Given the description of an element on the screen output the (x, y) to click on. 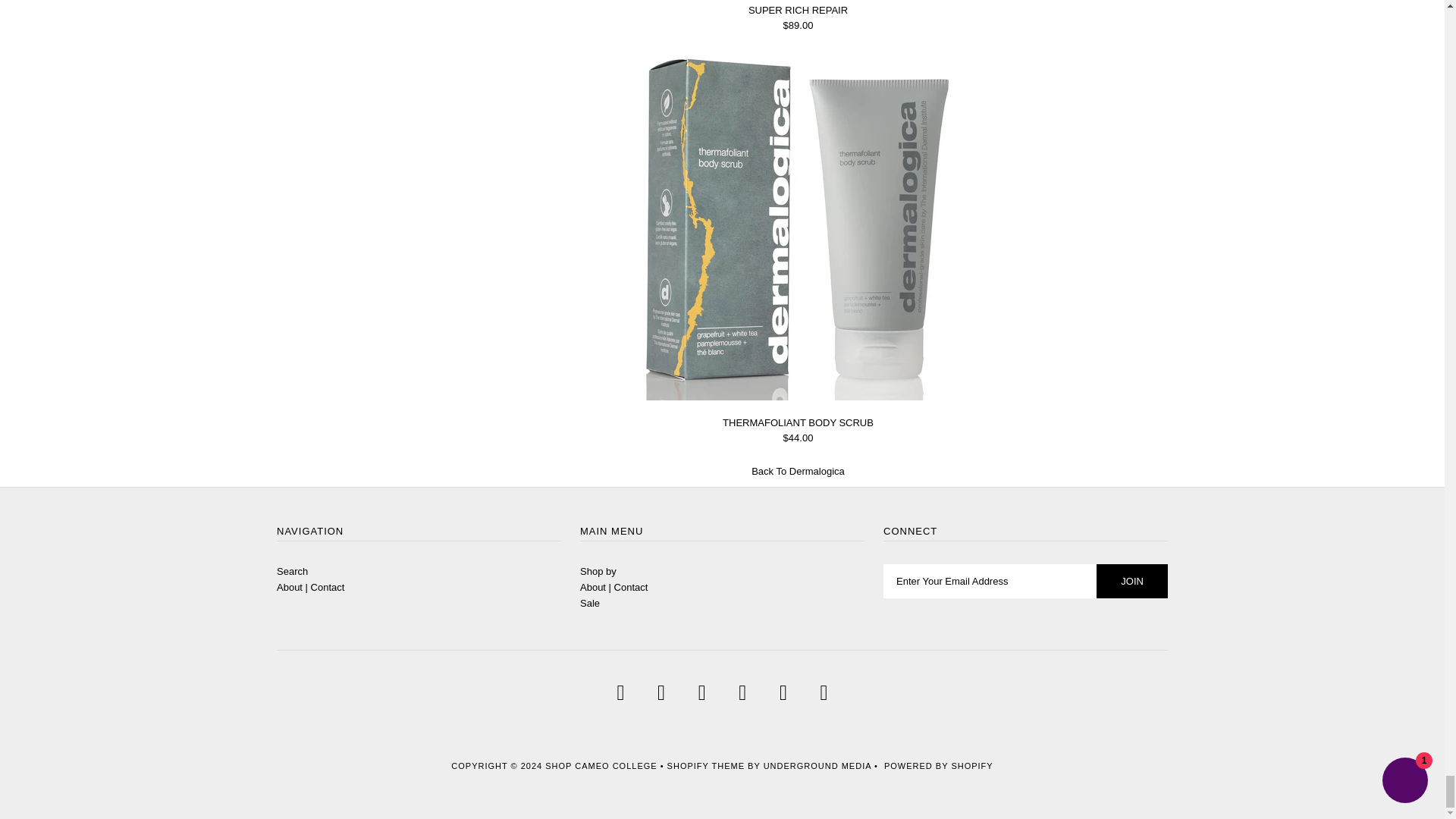
Join (1131, 581)
